Given the description of an element on the screen output the (x, y) to click on. 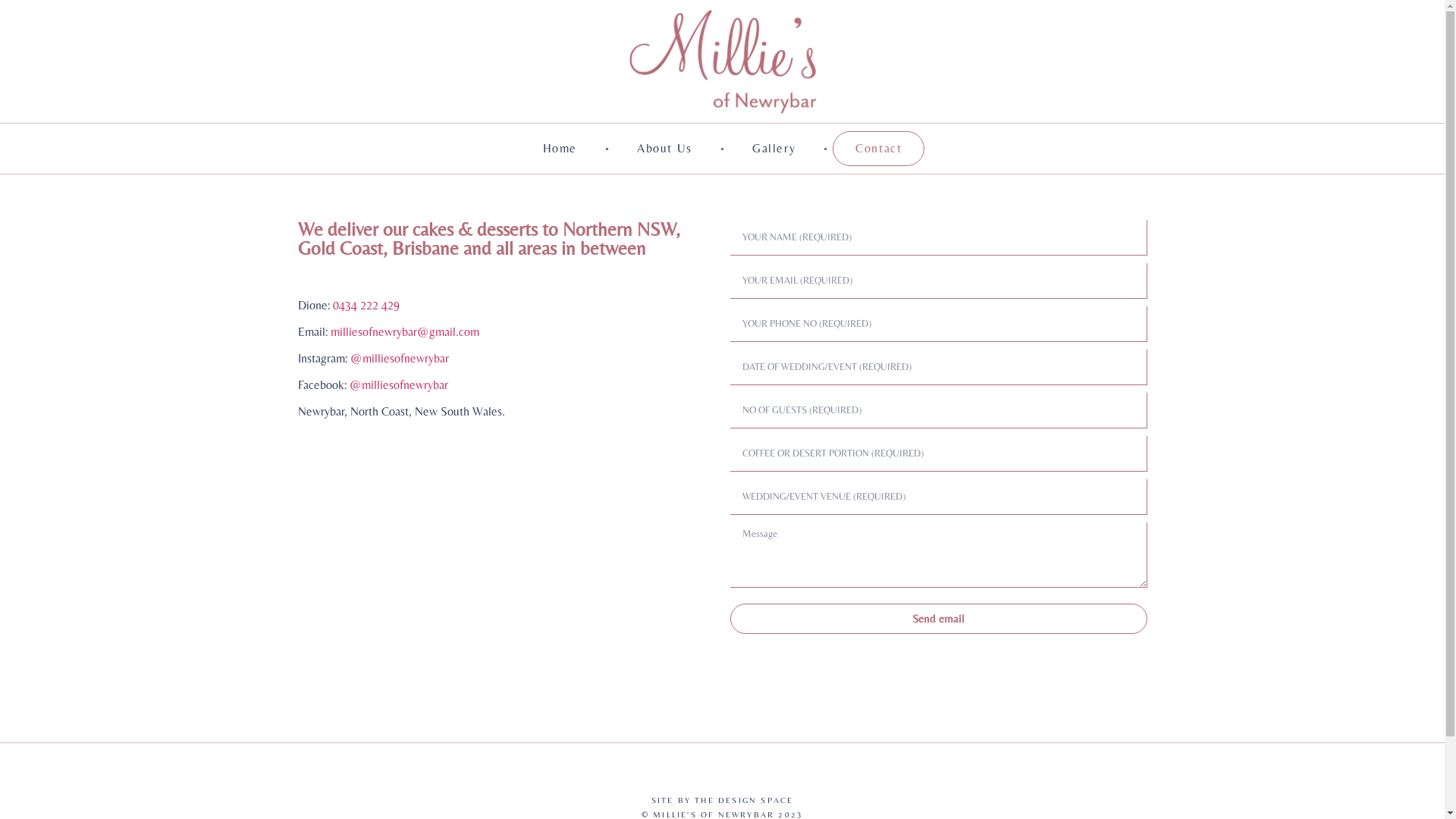
About Us Element type: text (664, 148)
@milliesofnewrybar Element type: text (399, 358)
Newrybar NSW 2479 Element type: hover (505, 582)
SITE BY THE DESIGN SPACE Element type: text (722, 799)
@milliesofnewrybar Element type: text (397, 384)
Home Element type: text (559, 148)
milliesofnewrybar@gmail.com Element type: text (404, 331)
Send email Element type: text (937, 618)
Gallery Element type: text (773, 148)
0434 222 429 Element type: text (365, 305)
Contact Element type: text (878, 148)
